Given the description of an element on the screen output the (x, y) to click on. 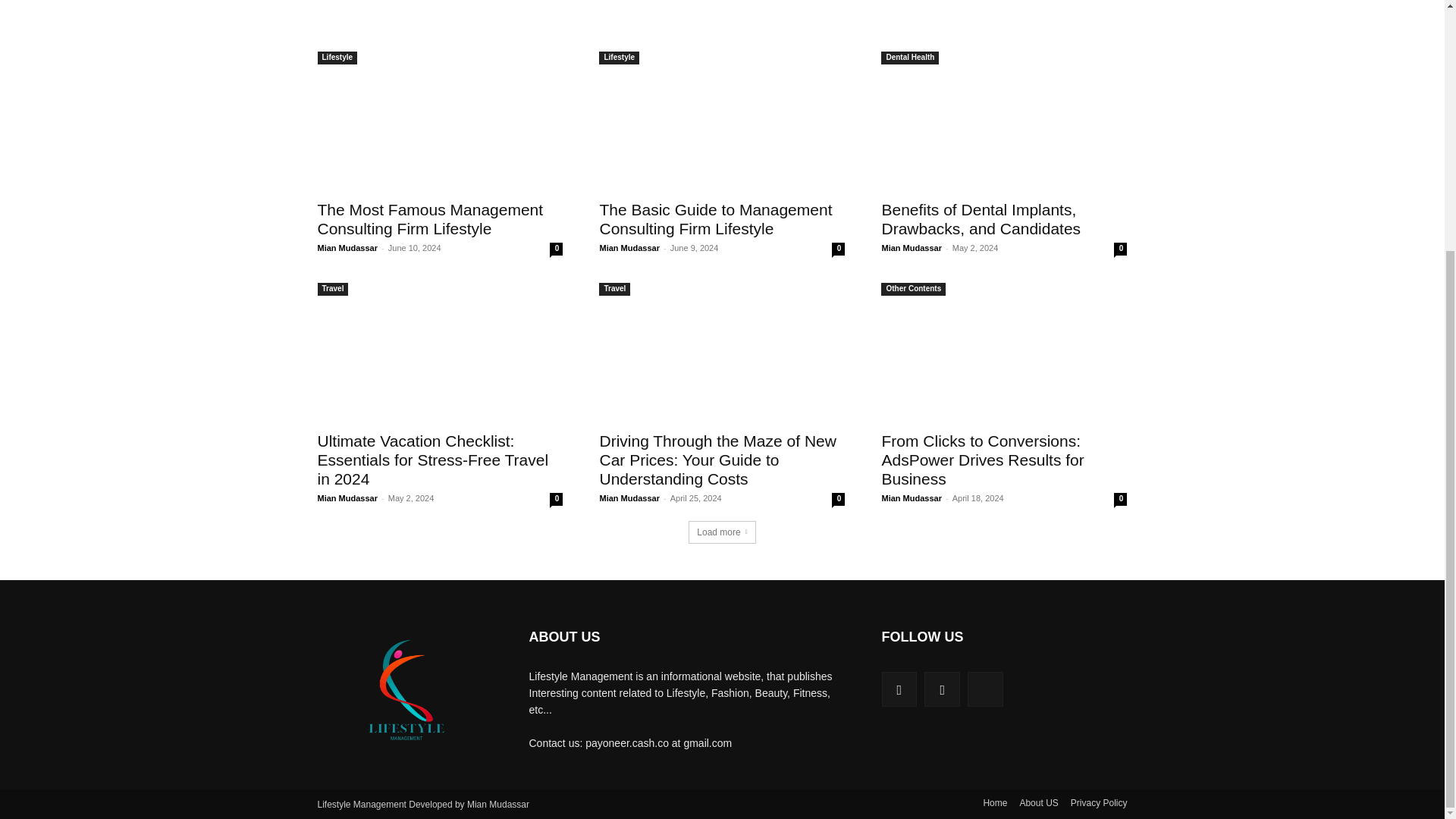
The Most Famous Management Consulting Firm Lifestyle (430, 218)
The Most Famous Management Consulting Firm Lifestyle (439, 128)
Mian Mudassar (347, 247)
The Basic Guide to Management Consulting Firm Lifestyle (721, 128)
The Most Famous Management Consulting Firm Lifestyle (430, 218)
Benefits of Dental Implants, Drawbacks, and Candidates (1003, 128)
